Given the description of an element on the screen output the (x, y) to click on. 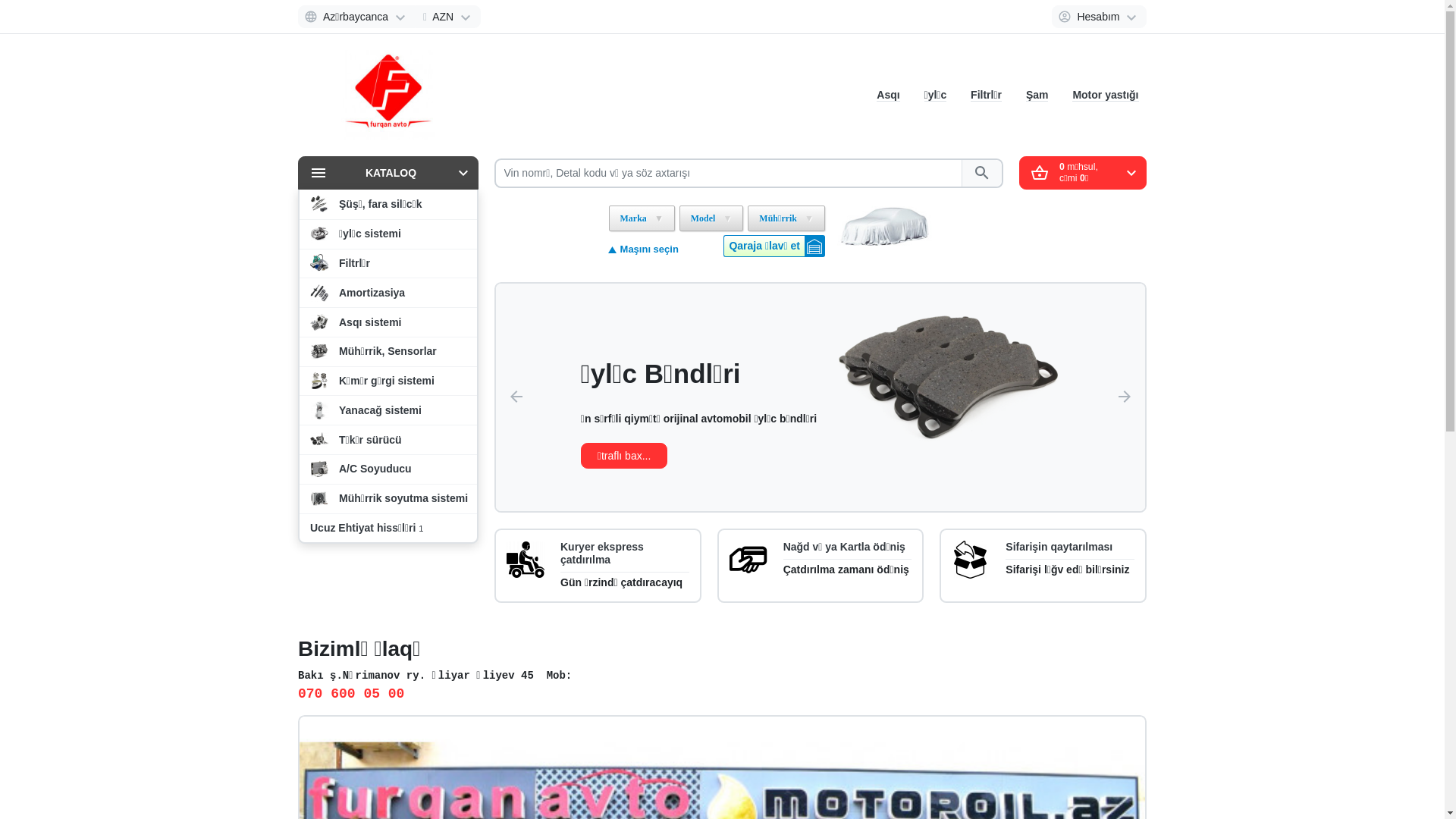
Amortizasiya Element type: text (387, 292)
070 600 05 00 Element type: text (351, 694)
KATALOQ Element type: text (388, 172)
A/C Soyuducu Element type: text (387, 469)
